Given the description of an element on the screen output the (x, y) to click on. 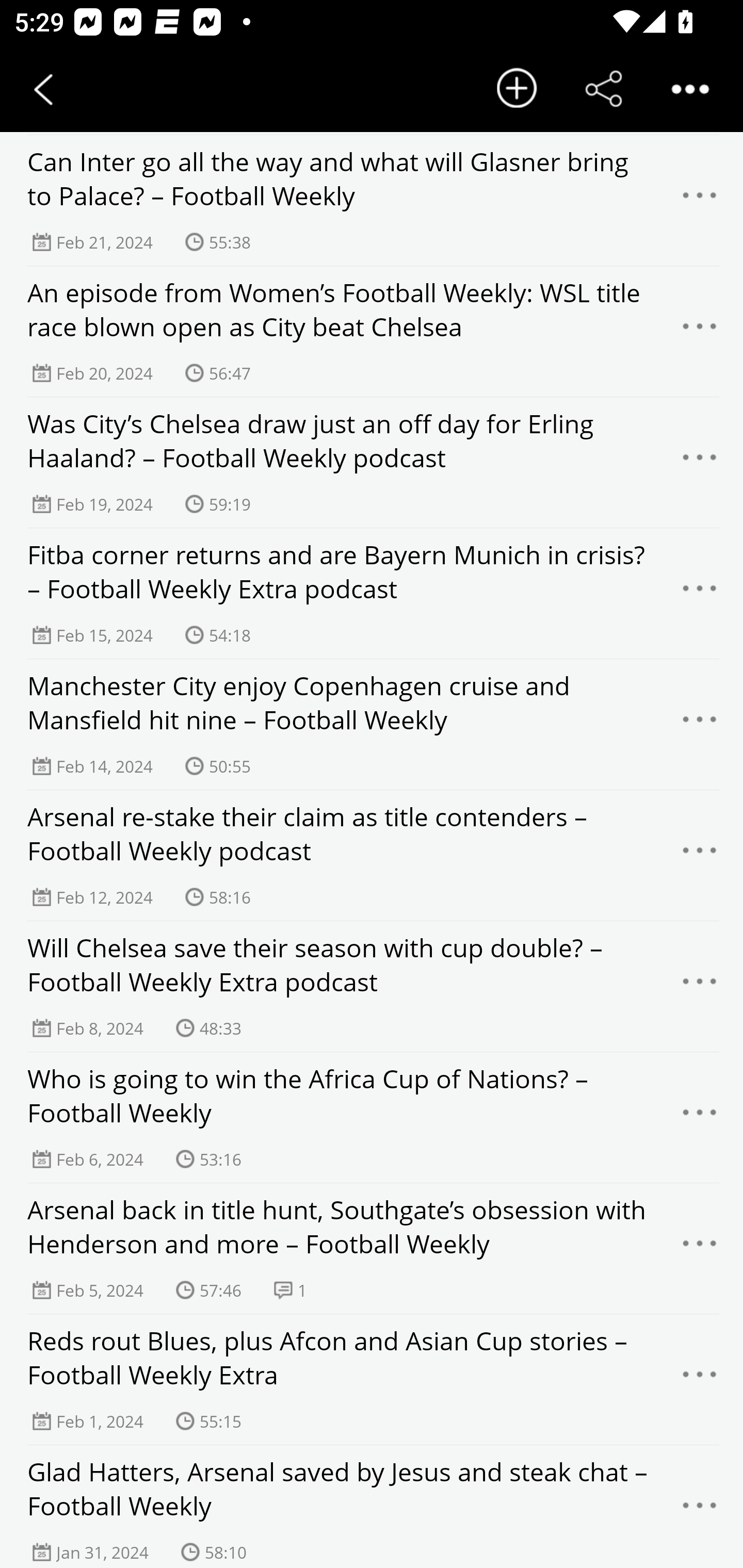
Back (43, 88)
Menu (699, 200)
Menu (699, 331)
Menu (699, 462)
Menu (699, 593)
Menu (699, 725)
Menu (699, 855)
Menu (699, 986)
Menu (699, 1117)
Menu (699, 1248)
Menu (699, 1379)
Menu (699, 1510)
